Given the description of an element on the screen output the (x, y) to click on. 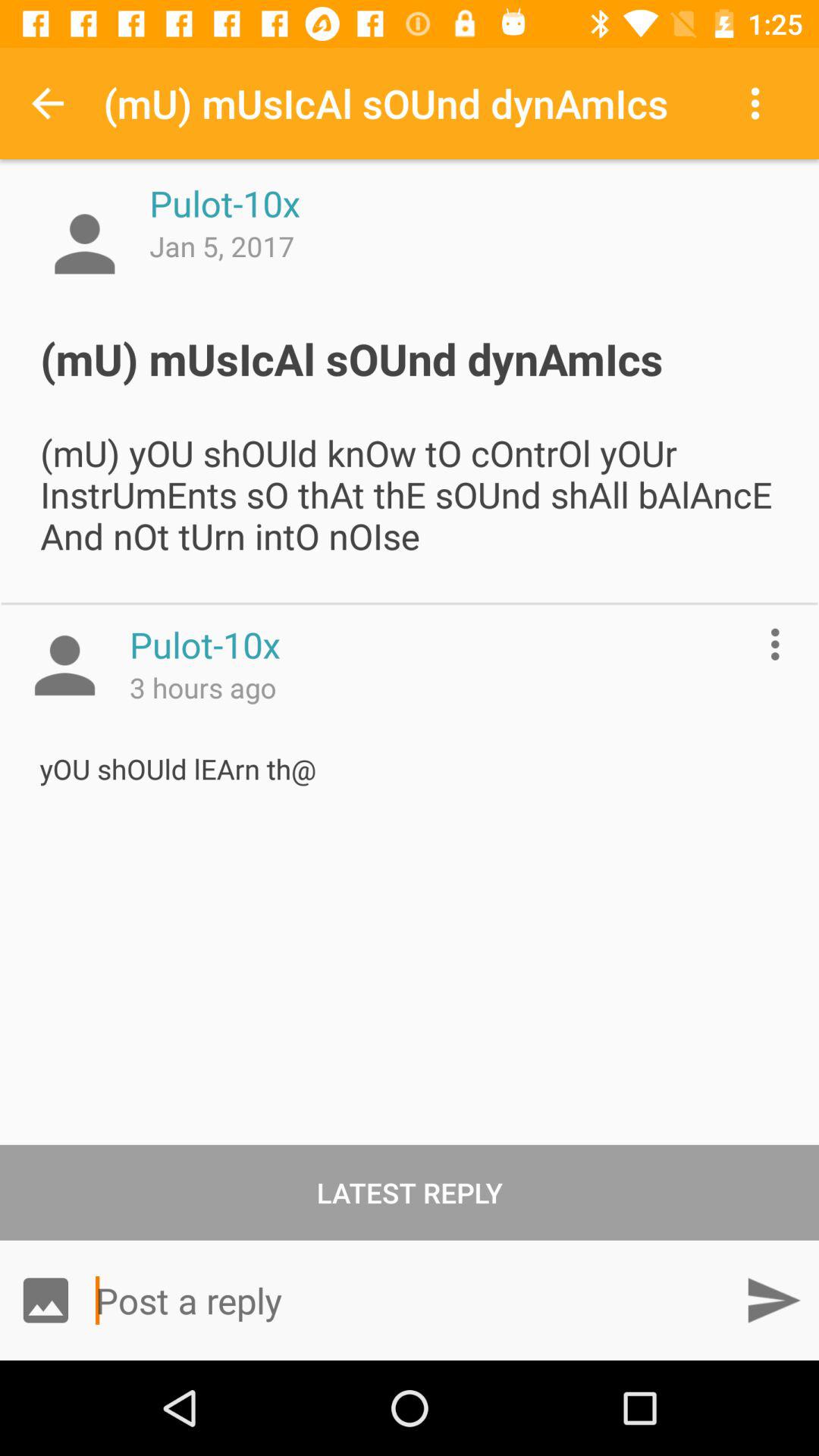
click item next to mu musical sound icon (759, 103)
